Given the description of an element on the screen output the (x, y) to click on. 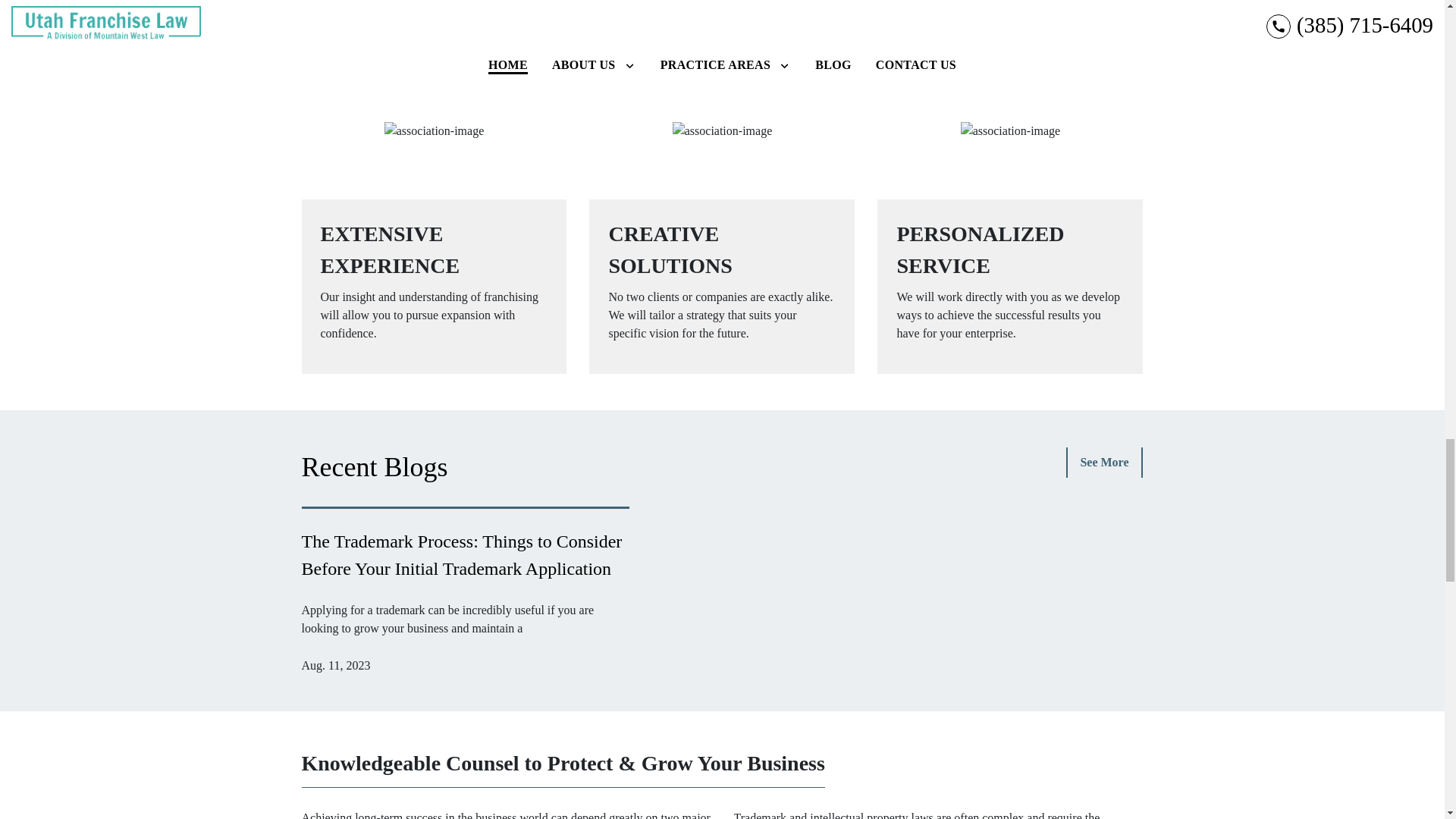
See More (1103, 462)
